Given the description of an element on the screen output the (x, y) to click on. 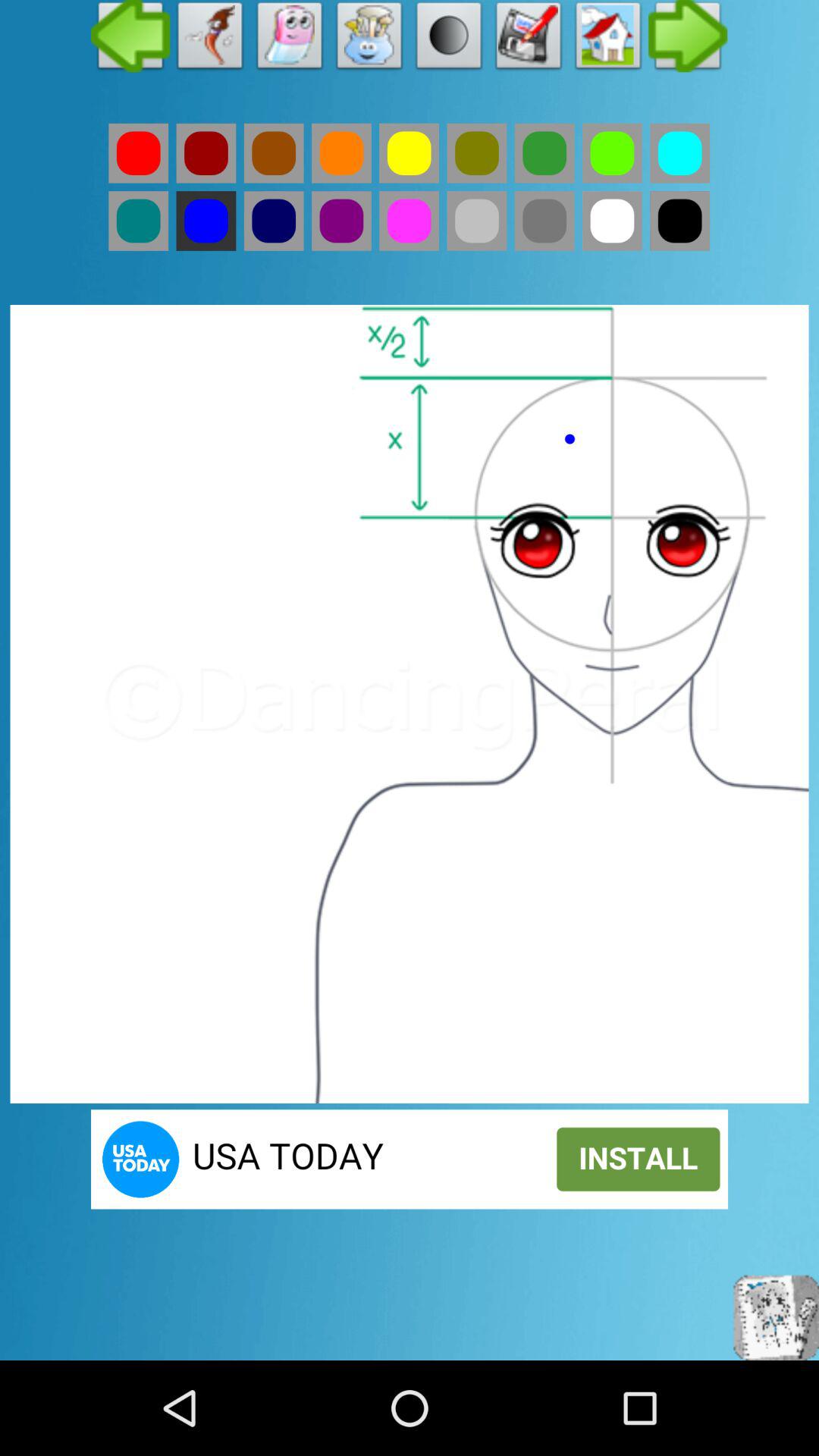
select color (476, 153)
